Given the description of an element on the screen output the (x, y) to click on. 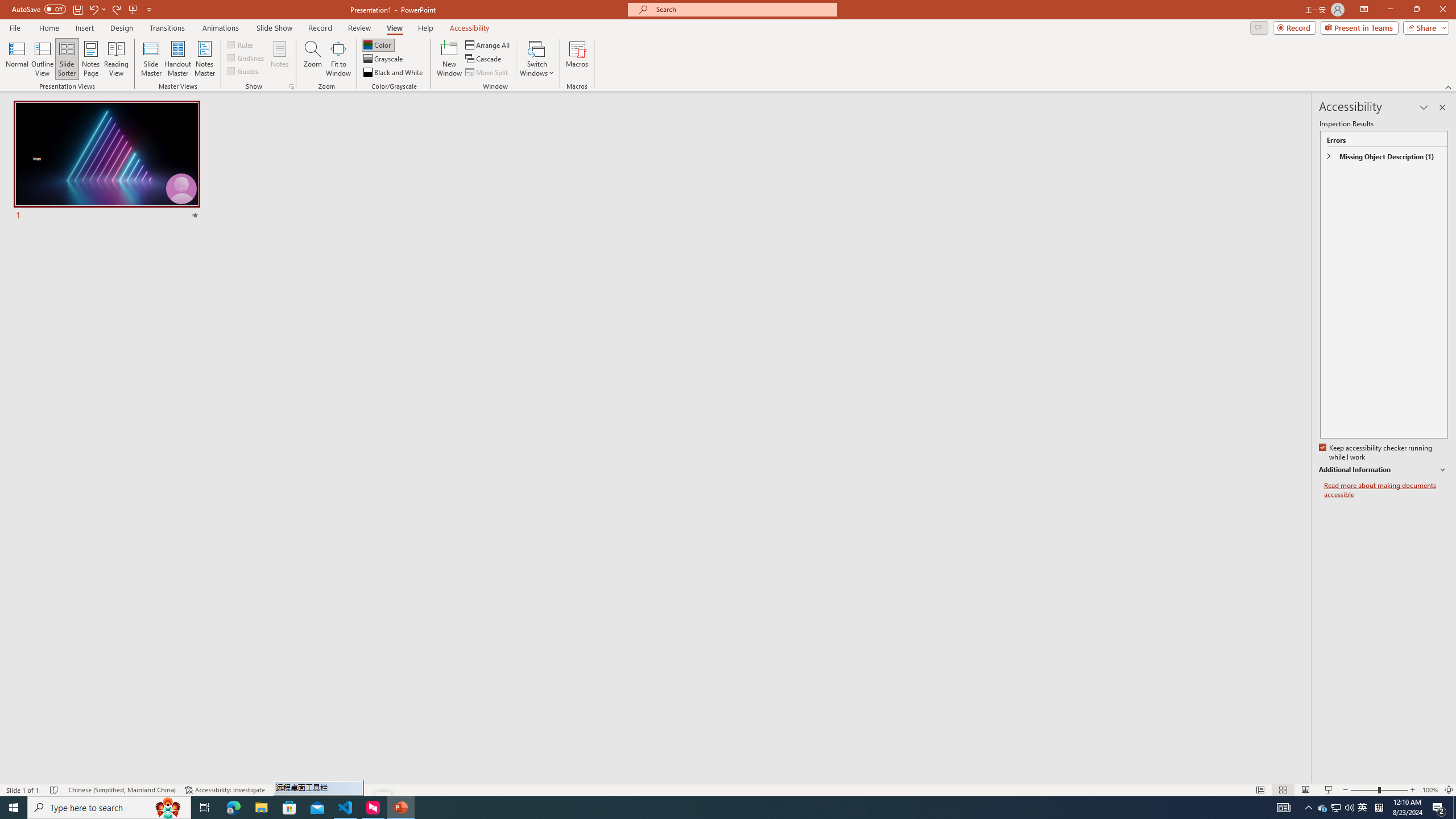
Notes (279, 58)
Move Split (487, 72)
Guides (243, 69)
New Window (449, 58)
Gridlines (246, 56)
Black and White (393, 72)
